Given the description of an element on the screen output the (x, y) to click on. 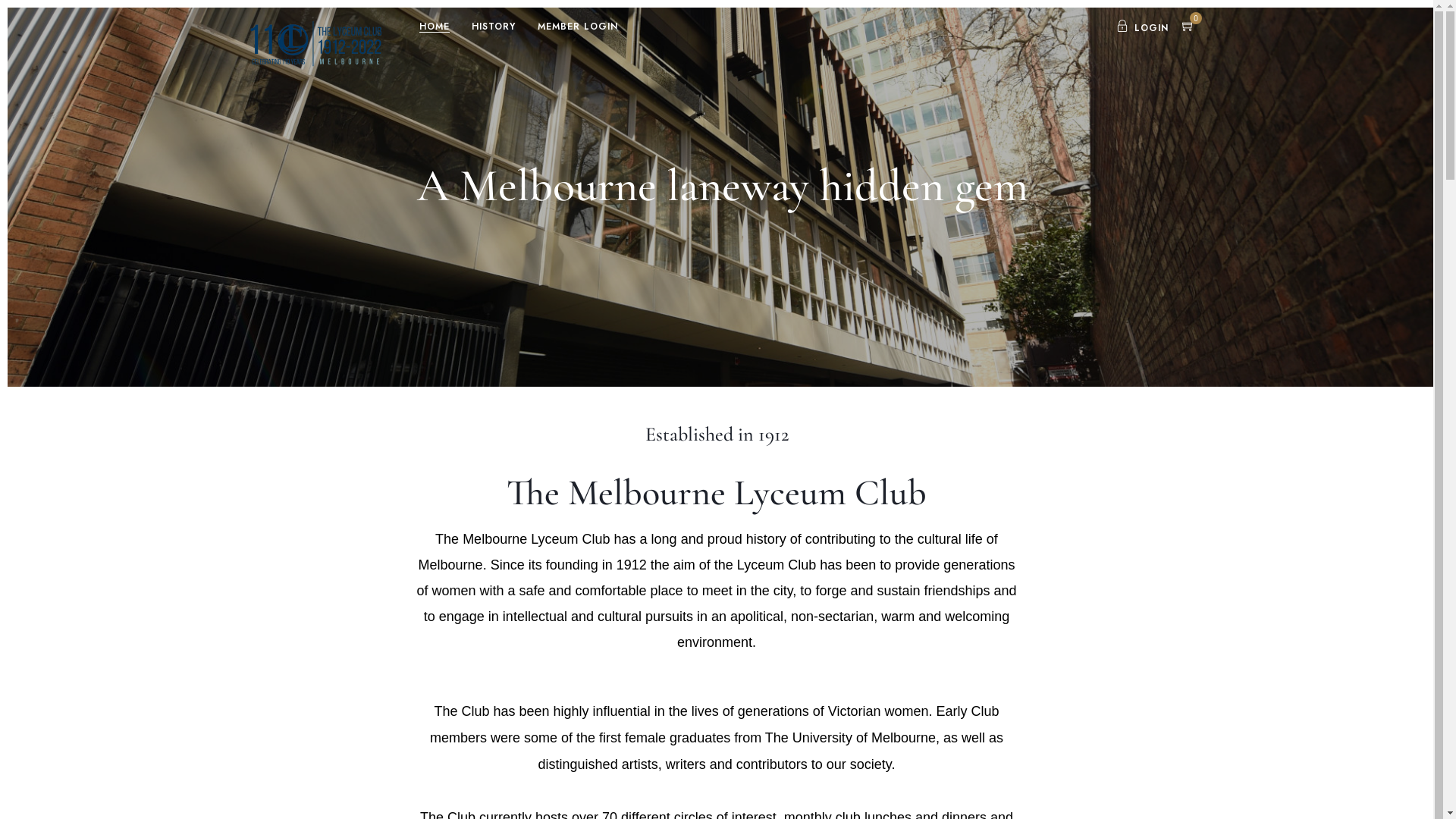
LOGIN Element type: text (1142, 27)
MEMBER LOGIN Element type: text (577, 26)
View Cart Element type: hover (1188, 27)
HOME Element type: text (434, 26)
HISTORY Element type: text (493, 26)
